Given the description of an element on the screen output the (x, y) to click on. 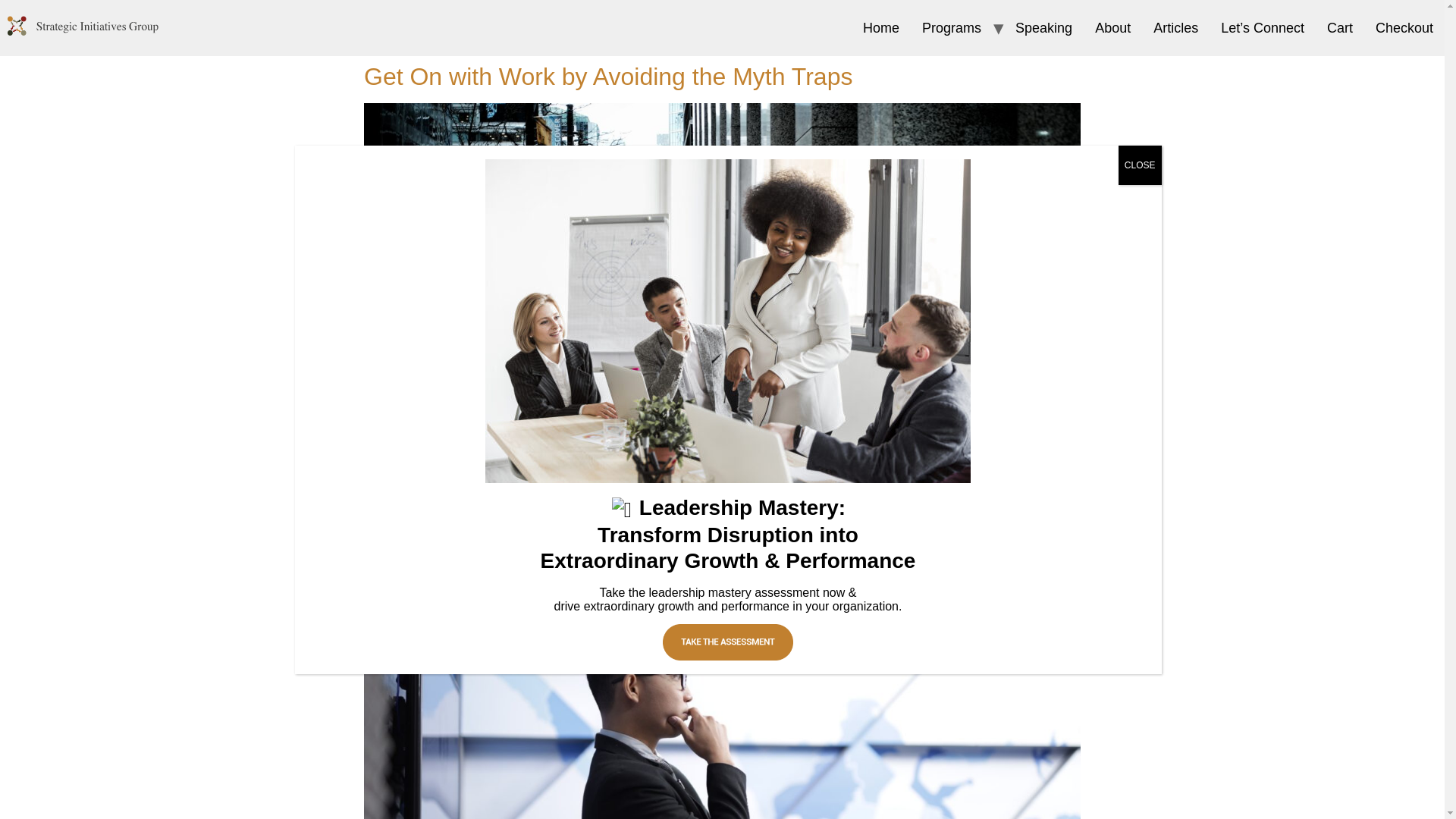
Get On with Work by Avoiding the Myth Traps (607, 76)
Home (881, 28)
CLOSE (1139, 165)
Cart (1340, 28)
3 Things to Think About as You Rethink Everything (636, 572)
Articles (1175, 28)
Speaking (1043, 28)
Programs (951, 28)
About (1112, 28)
Checkout (1404, 28)
